Given the description of an element on the screen output the (x, y) to click on. 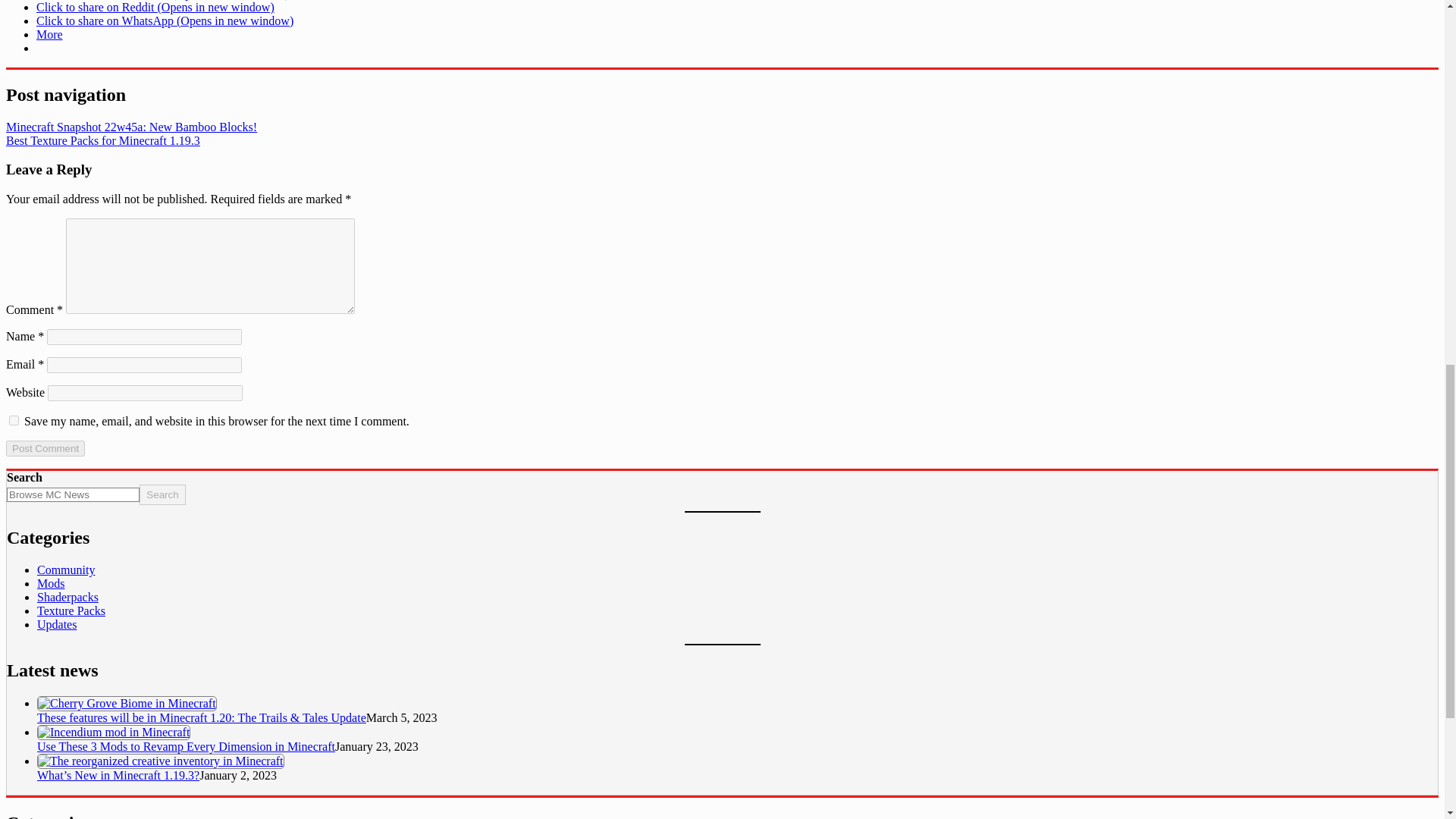
Post Comment (44, 448)
Best Texture Packs for Minecraft 1.19.3 (102, 140)
Post Comment (44, 448)
Minecraft Snapshot 22w45a: New Bamboo Blocks! (131, 126)
Texture Packs (70, 610)
Shaderpacks (68, 596)
Click to share on Reddit (155, 6)
Mods (50, 583)
Community (65, 569)
More (49, 33)
yes (13, 420)
Search (162, 494)
Click to share on WhatsApp (165, 20)
Use These 3 Mods to Revamp Every Dimension in Minecraft (185, 746)
Updates (57, 624)
